Given the description of an element on the screen output the (x, y) to click on. 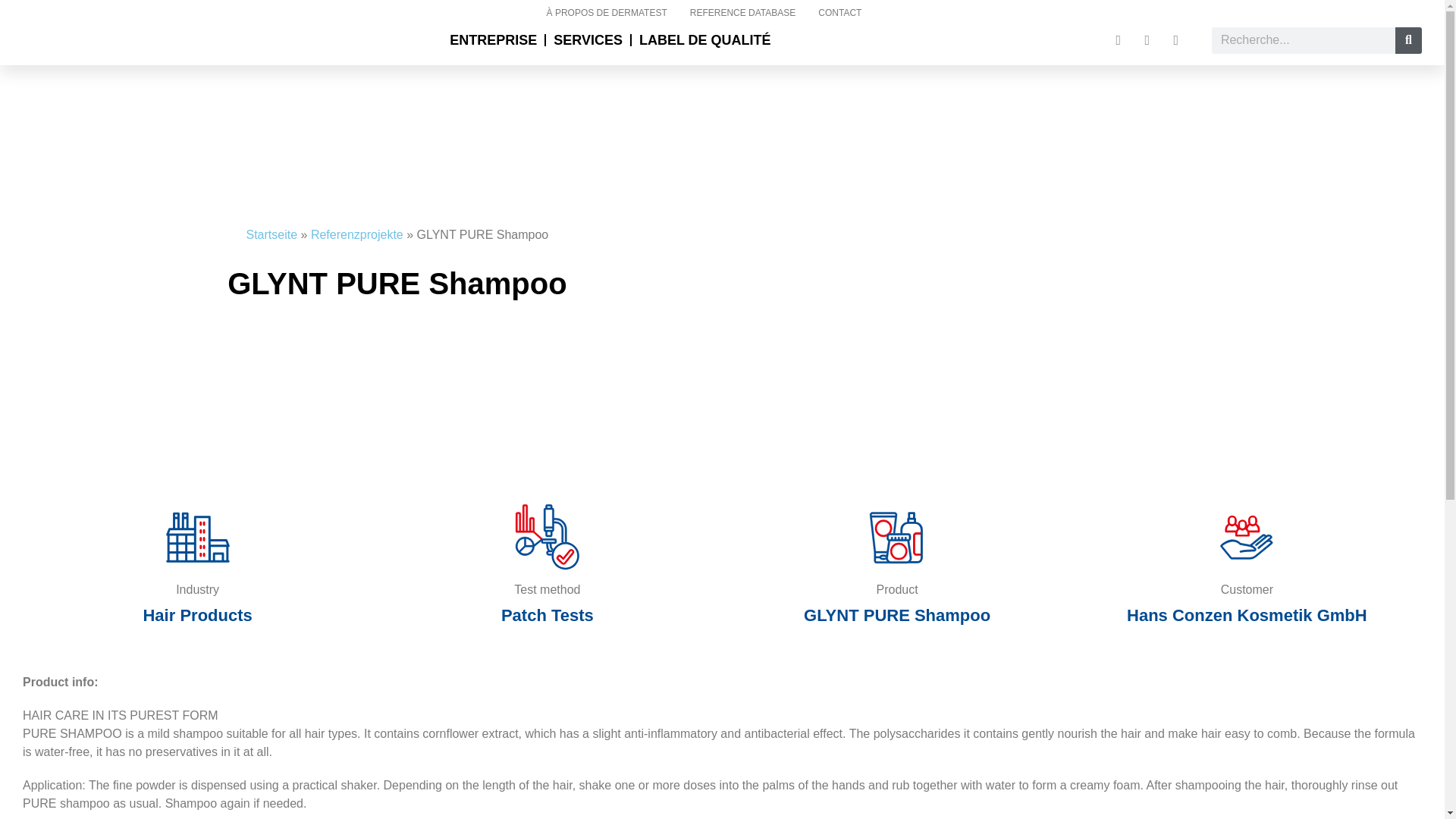
SERVICES (588, 39)
REFERENCE DATABASE (743, 13)
ENTREPRISE (493, 39)
CONTACT (839, 13)
Search (1408, 40)
Linkedin (1118, 40)
Facebook (1175, 40)
Instagram (1147, 40)
